Given the description of an element on the screen output the (x, y) to click on. 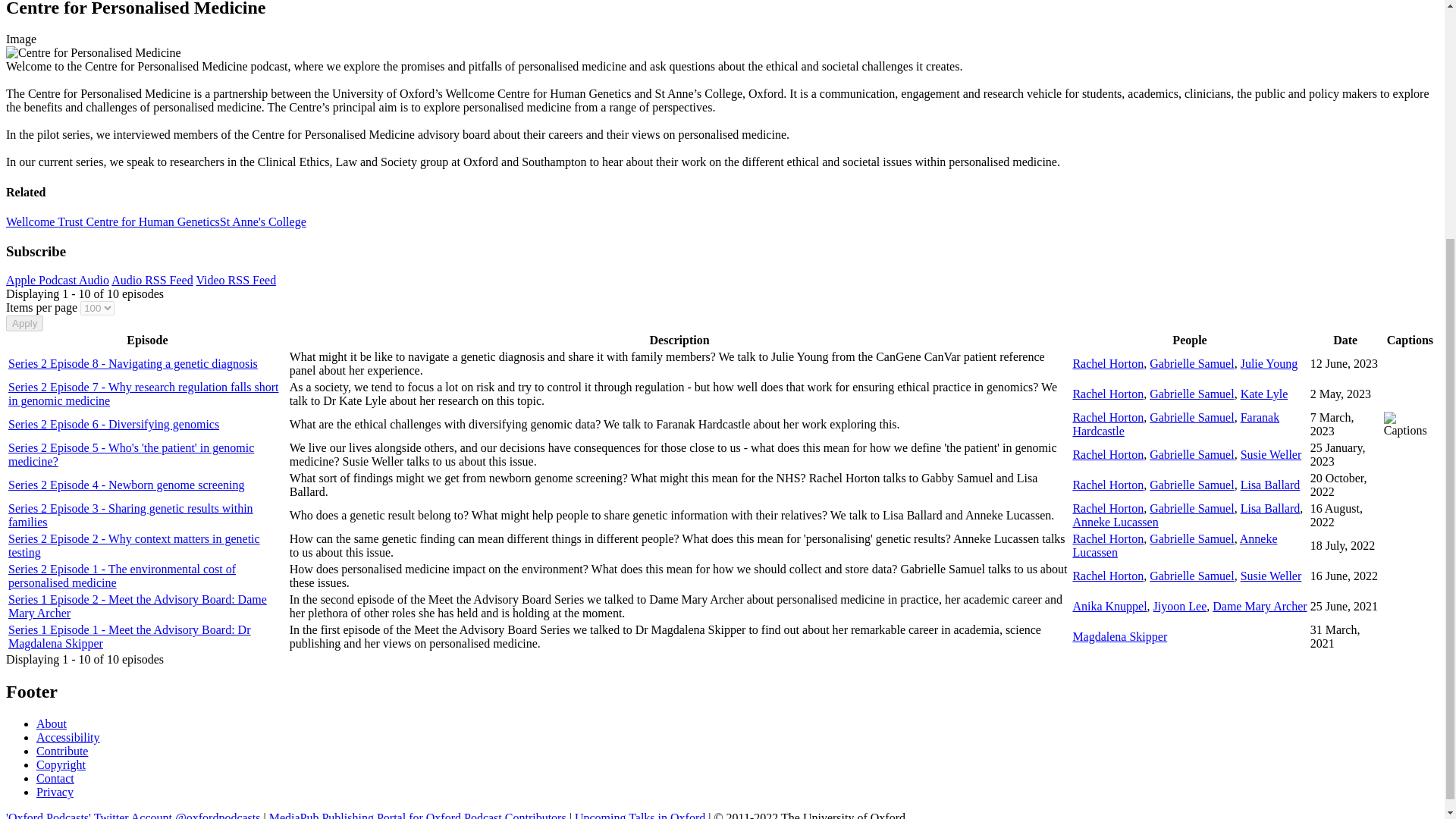
Gabrielle Samuel (1192, 417)
Apply (24, 323)
Series 2 Episode 3 - Sharing genetic results within families (130, 515)
Rachel Horton (1106, 484)
Audio RSS Feed (152, 279)
Lisa Ballard (1270, 484)
Gabrielle Samuel (1192, 484)
Series 2 Episode 6 - Diversifying genomics (113, 423)
Julie Young (1269, 363)
Wellcome Trust Centre for Human Genetics (112, 221)
Susie Weller (1270, 454)
Rachel Horton (1106, 417)
Series 2 Episode 4 - Newborn genome screening (126, 484)
